Given the description of an element on the screen output the (x, y) to click on. 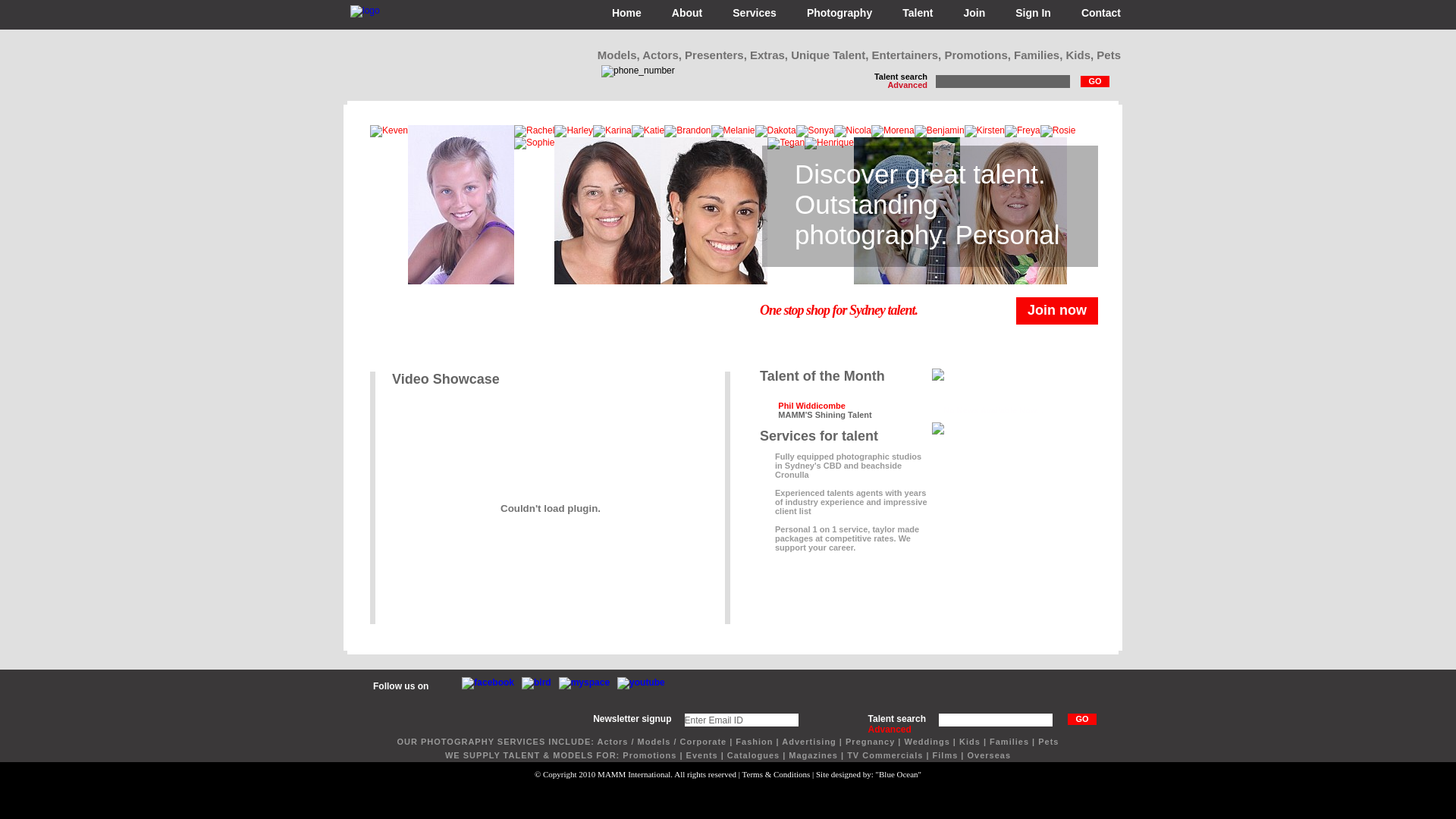
Services Element type: text (754, 14)
Photography Element type: text (839, 14)
Advanced Element type: text (907, 84)
Join now Element type: text (1057, 310)
Contact Element type: text (1100, 14)
About Element type: text (686, 14)
GO Element type: text (1081, 718)
Talent Element type: text (917, 14)
Home Element type: text (626, 14)
Site designed by: "Blue Ocean" Element type: text (868, 773)
Advanced Element type: text (889, 729)
Sign In Element type: text (1033, 14)
Join Element type: text (973, 14)
GO Element type: text (1094, 81)
Terms & Conditions Element type: text (776, 773)
